Given the description of an element on the screen output the (x, y) to click on. 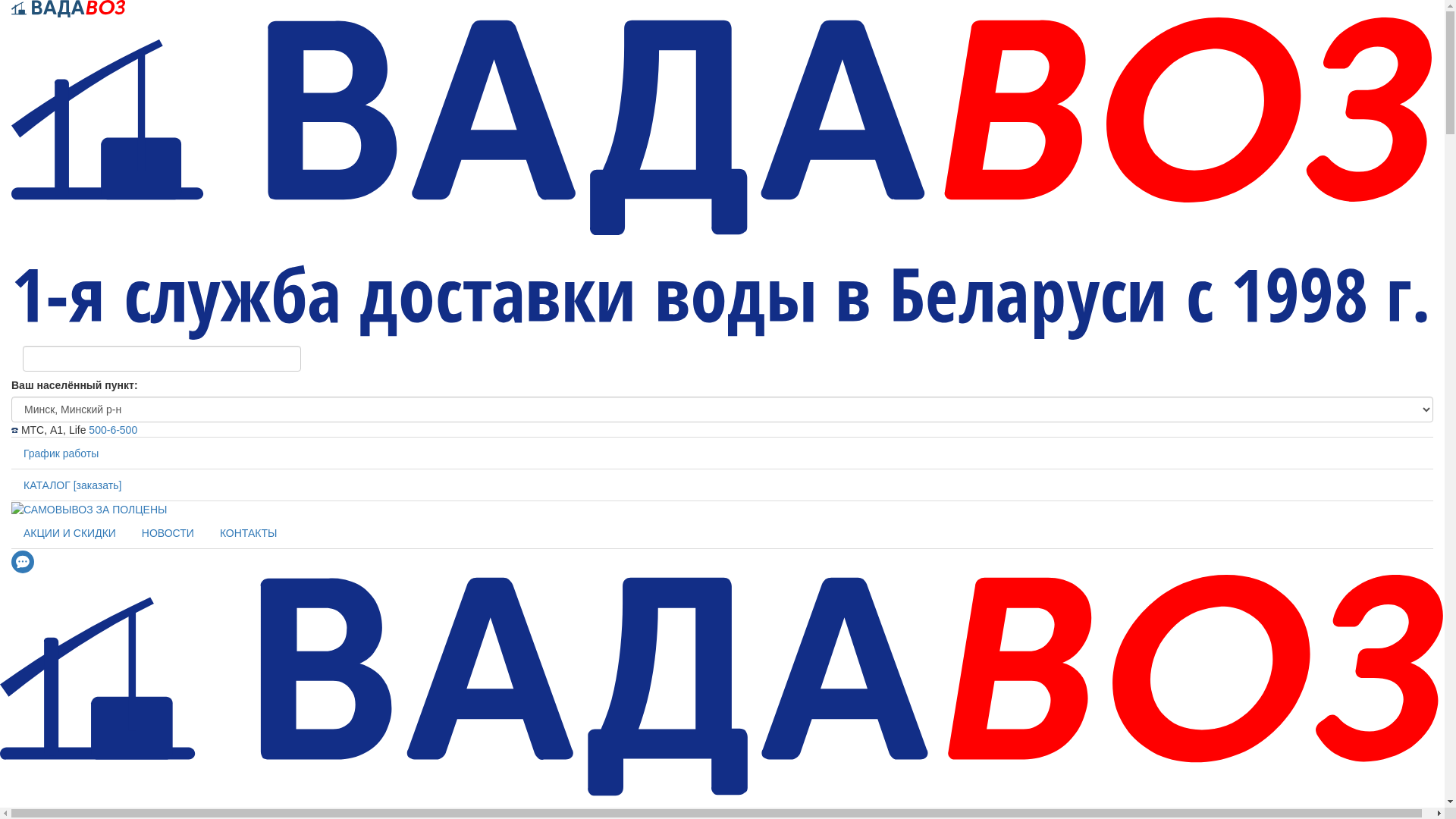
500-6-500 Element type: text (112, 429)
